Given the description of an element on the screen output the (x, y) to click on. 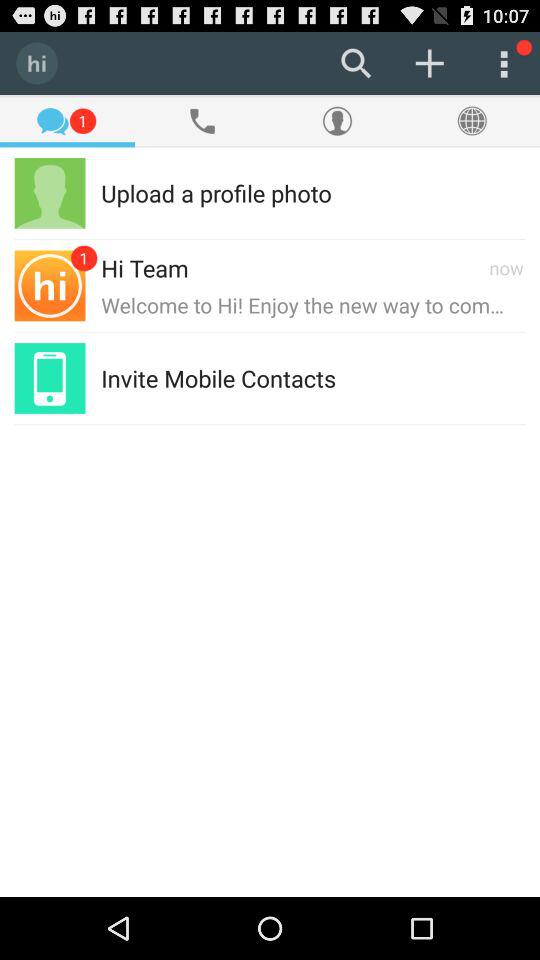
tap the icon next to the now app (337, 267)
